Given the description of an element on the screen output the (x, y) to click on. 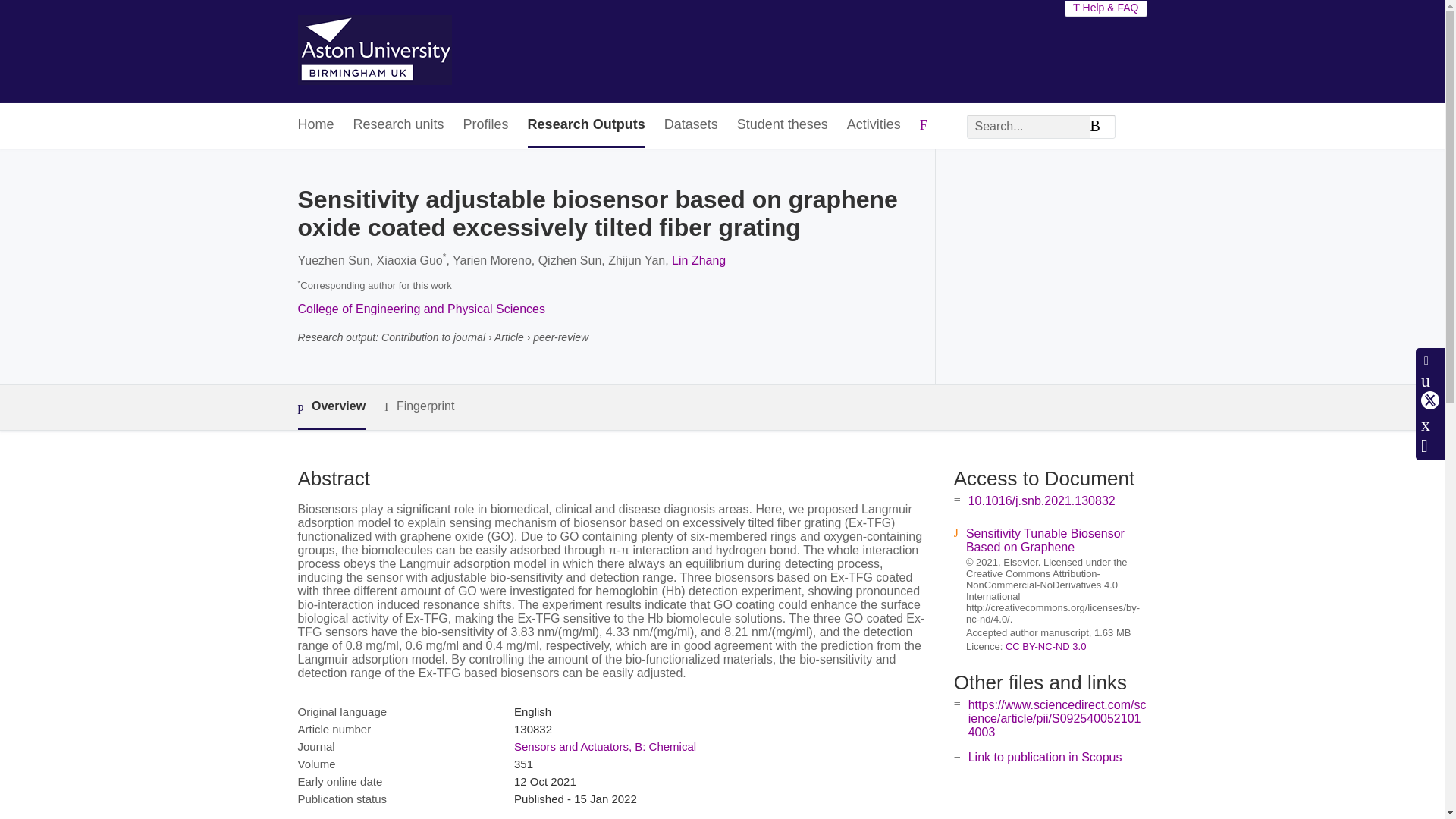
Research Outputs (586, 125)
Datasets (690, 125)
Aston Research Explorer Home (374, 51)
Student theses (782, 125)
Research units (398, 125)
Lin Zhang (698, 259)
CC BY-NC-ND 3.0 (1046, 645)
Fingerprint (419, 406)
Link to publication in Scopus (1045, 757)
College of Engineering and Physical Sciences (420, 308)
